Given the description of an element on the screen output the (x, y) to click on. 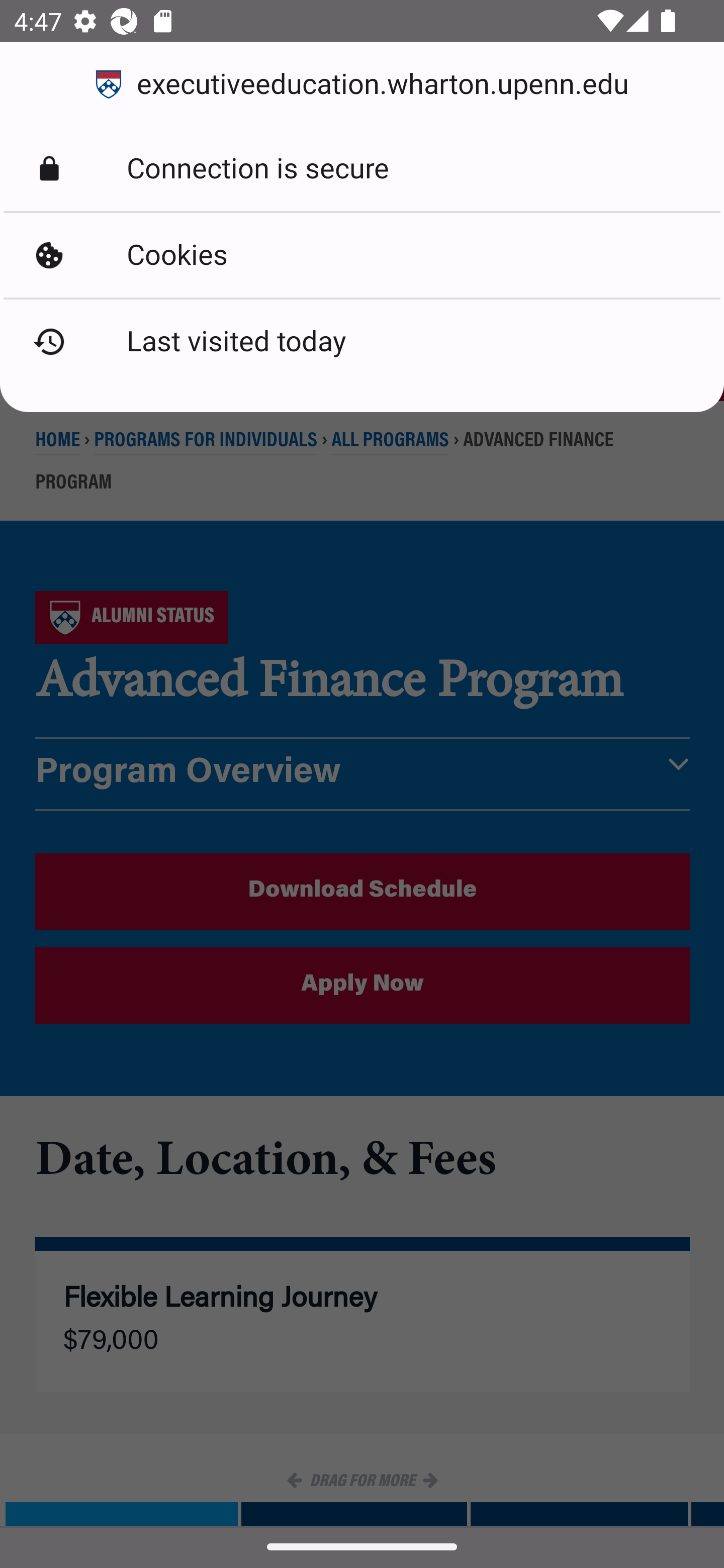
executiveeducation.wharton.upenn.edu (362, 84)
Connection is secure (362, 169)
Cookies (362, 255)
Last visited today (362, 341)
